Given the description of an element on the screen output the (x, y) to click on. 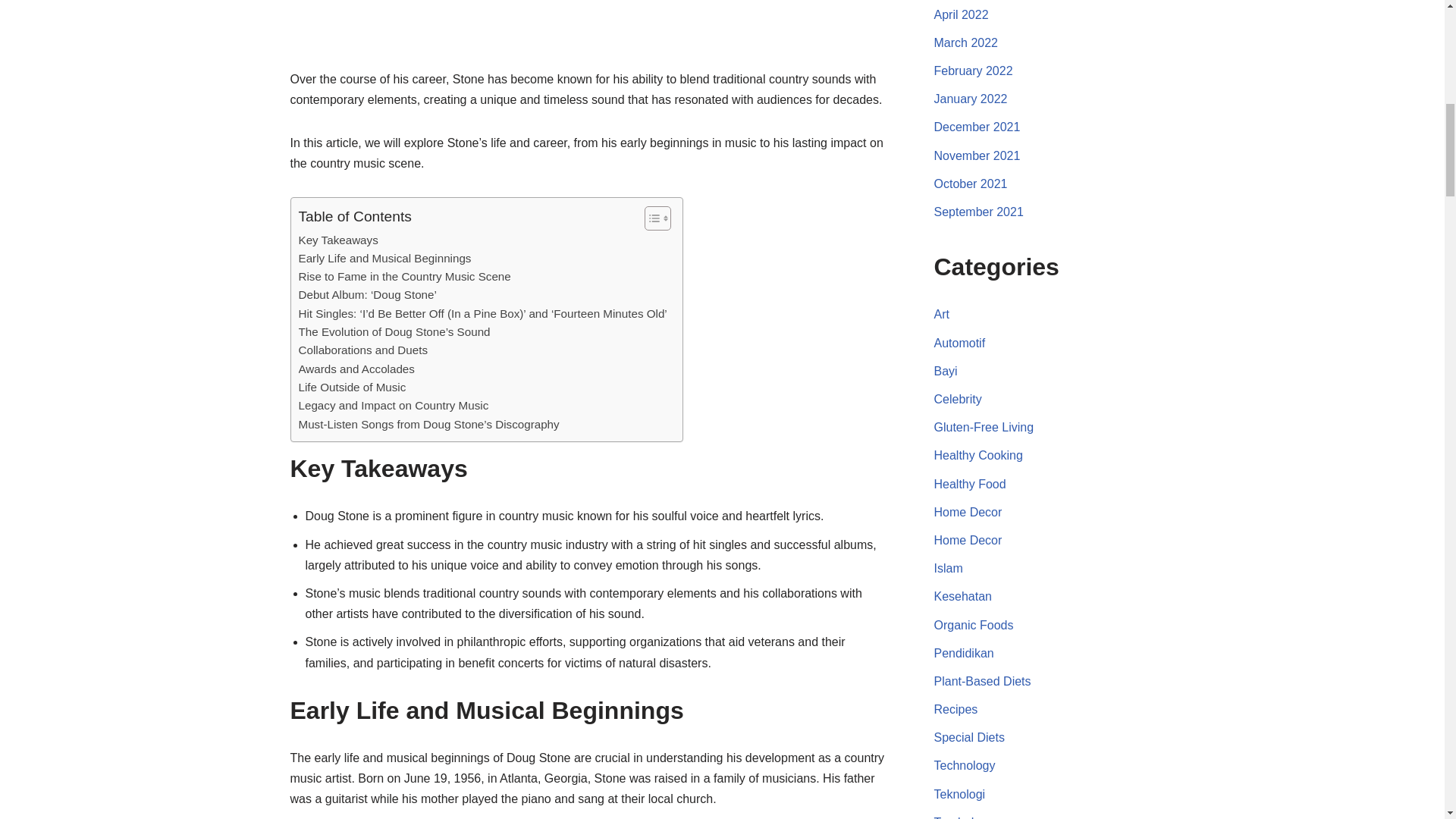
Rise to Fame in the Country Music Scene (404, 276)
Legacy and Impact on Country Music (393, 405)
Early Life and Musical Beginnings (384, 258)
Awards and Accolades (356, 369)
Life Outside of Music (352, 387)
Life Outside of Music (352, 387)
Collaborations and Duets (363, 350)
Awards and Accolades (356, 369)
Legacy and Impact on Country Music (393, 405)
Early Life and Musical Beginnings (384, 258)
Collaborations and Duets (363, 350)
Advertisement (588, 31)
Key Takeaways (338, 239)
Rise to Fame in the Country Music Scene (404, 276)
Key Takeaways (338, 239)
